Given the description of an element on the screen output the (x, y) to click on. 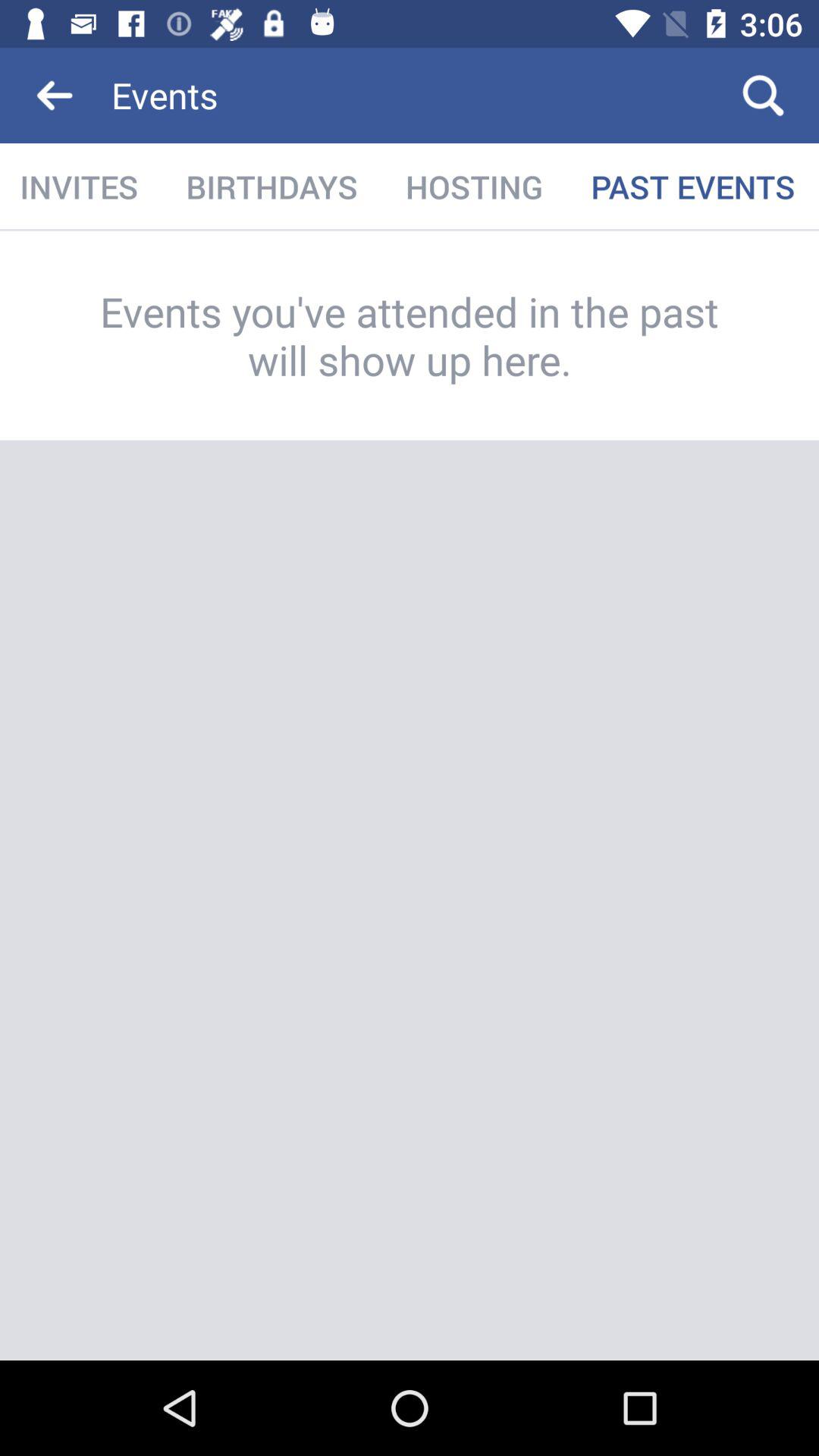
turn on item above the past events item (763, 95)
